Given the description of an element on the screen output the (x, y) to click on. 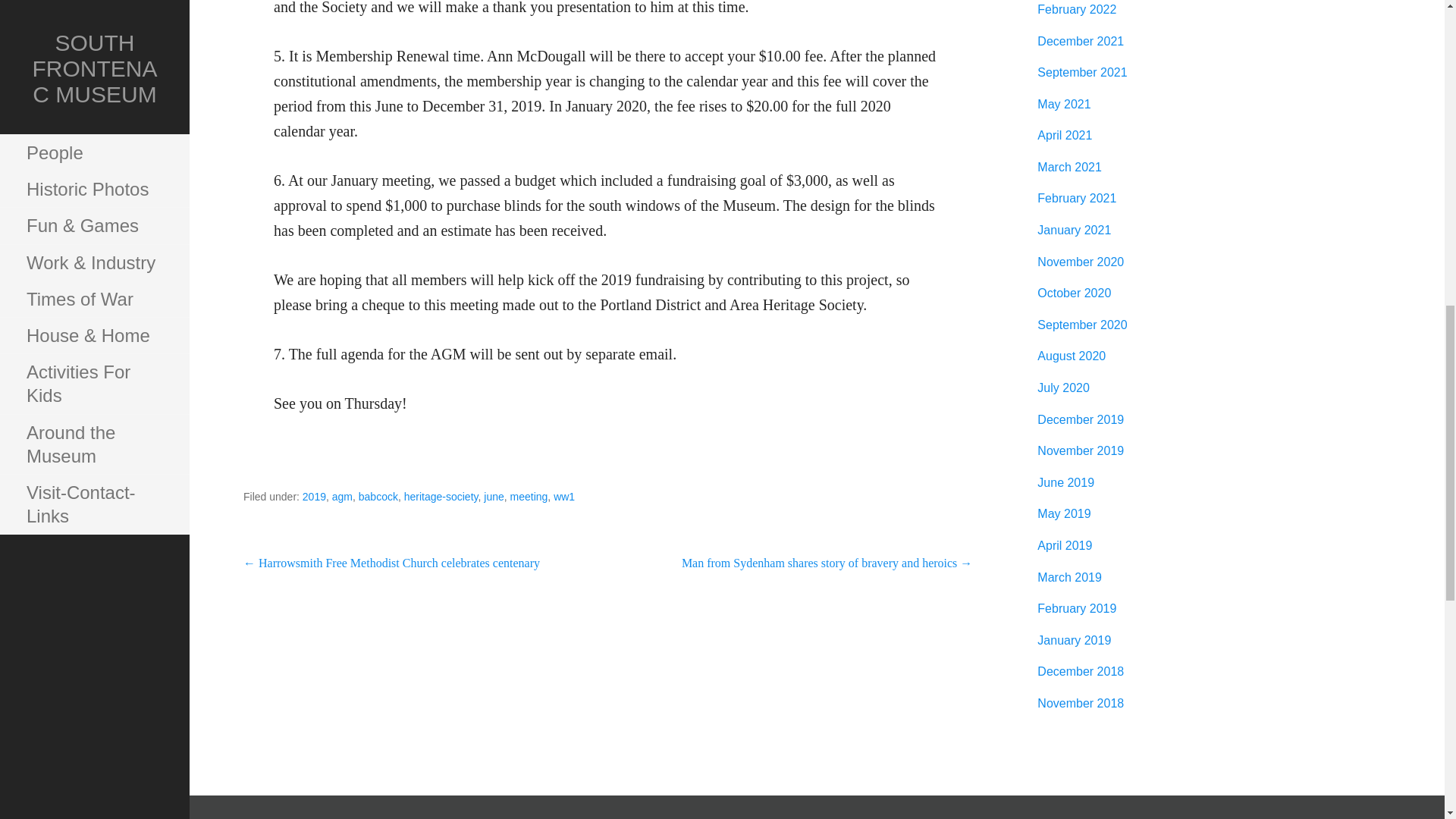
meeting (529, 496)
2019 (314, 496)
December 2021 (1080, 41)
May 2021 (1063, 103)
September 2021 (1081, 72)
agm (341, 496)
February 2022 (1076, 9)
june (493, 496)
heritage-society (441, 496)
April 2021 (1064, 134)
ww1 (564, 496)
babcock (377, 496)
